Given the description of an element on the screen output the (x, y) to click on. 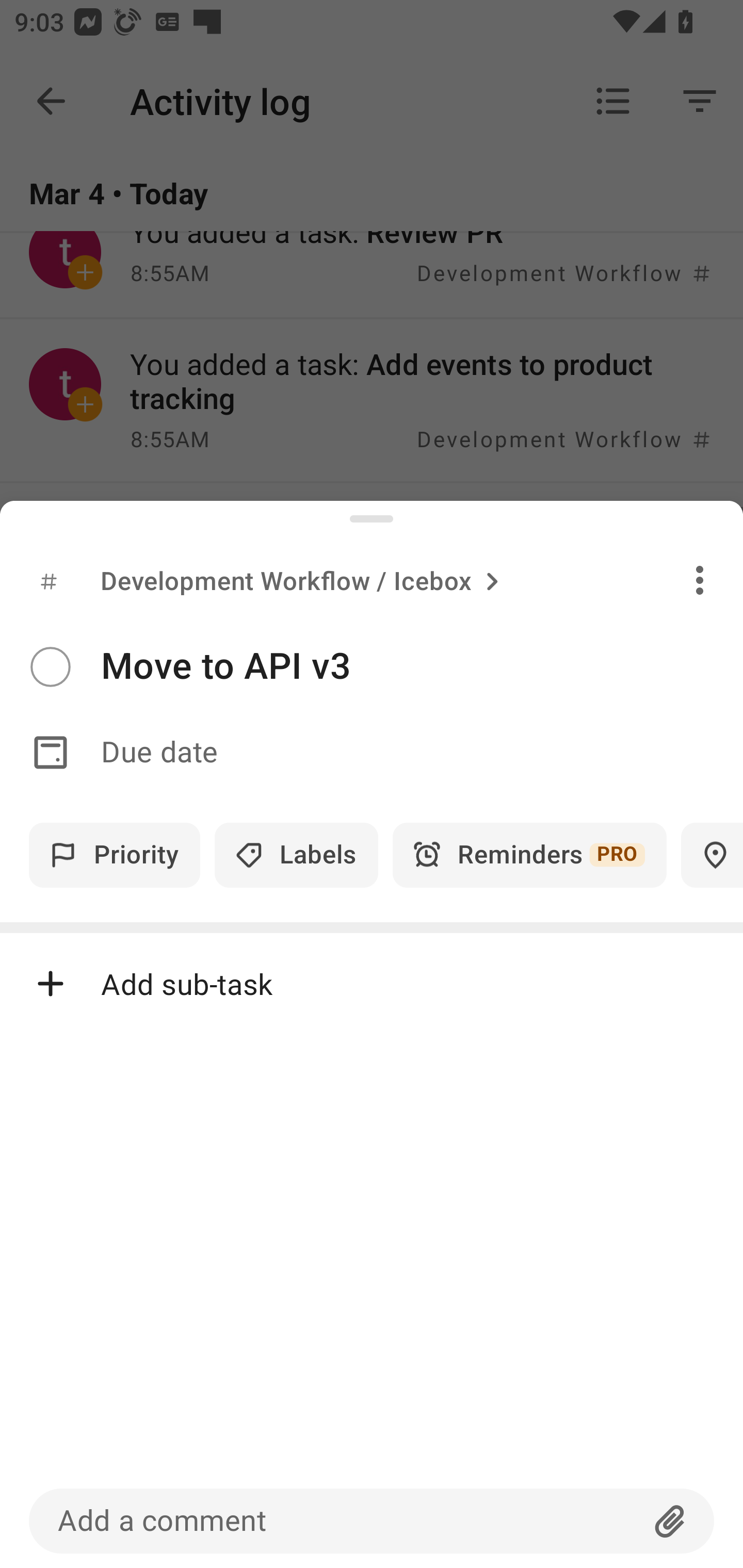
Overflow menu (699, 580)
Complete (50, 667)
Move to API v3​ (422, 666)
Date Due date (371, 752)
Priority (113, 855)
Labels (296, 855)
Reminders PRO (529, 855)
Locations PRO (712, 855)
Add sub-task (371, 983)
Add a comment Attachment (371, 1520)
Attachment (670, 1520)
